Given the description of an element on the screen output the (x, y) to click on. 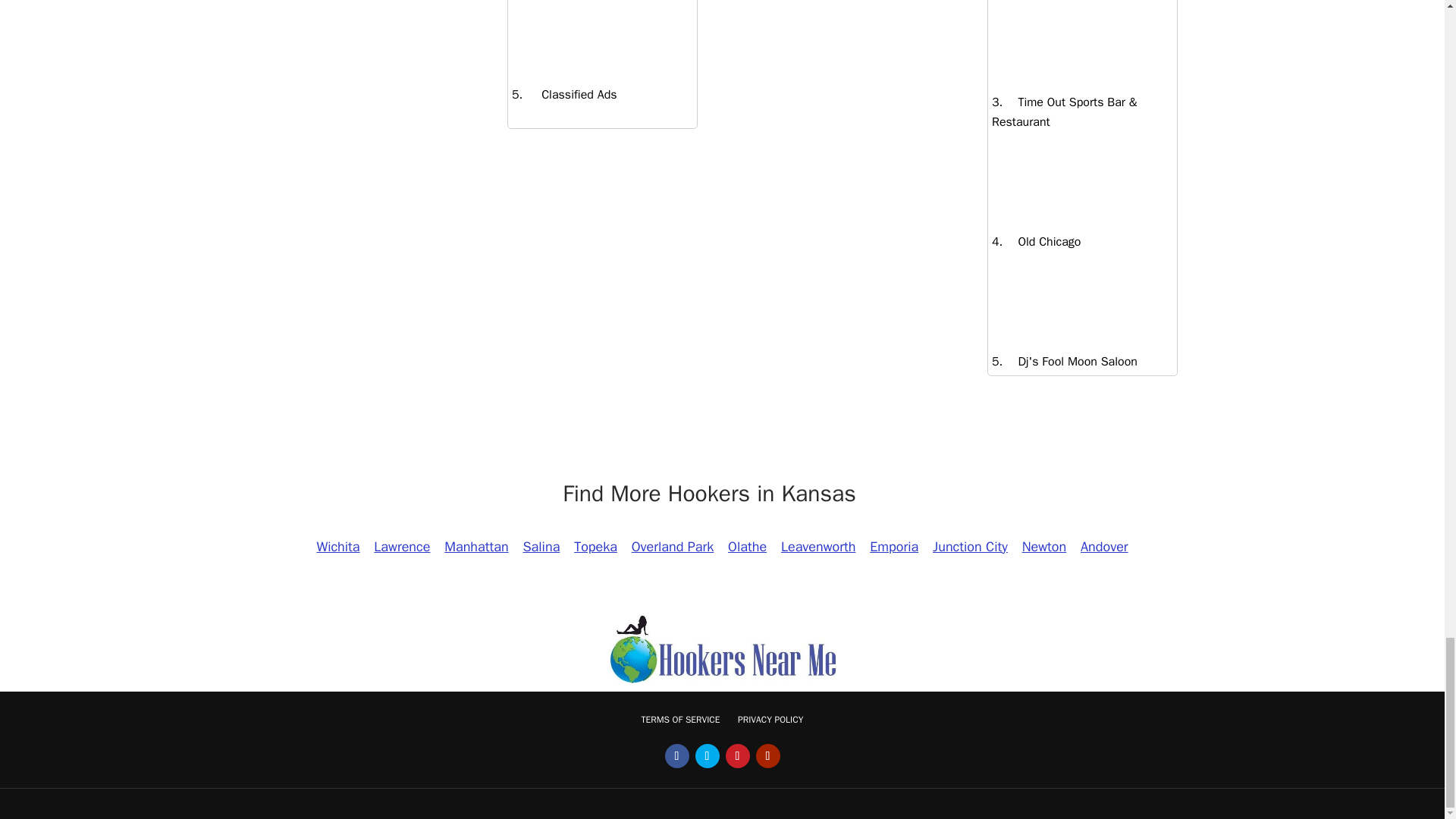
Manhattan (476, 546)
Overland Park (672, 546)
Dj's Fool Moon Saloon (1070, 360)
Topeka (596, 546)
Follow on Youtube (766, 755)
Leavenworth (818, 546)
Olathe (746, 546)
Follow on Twitter (706, 755)
Lawrence (401, 546)
Salina (540, 546)
